Given the description of an element on the screen output the (x, y) to click on. 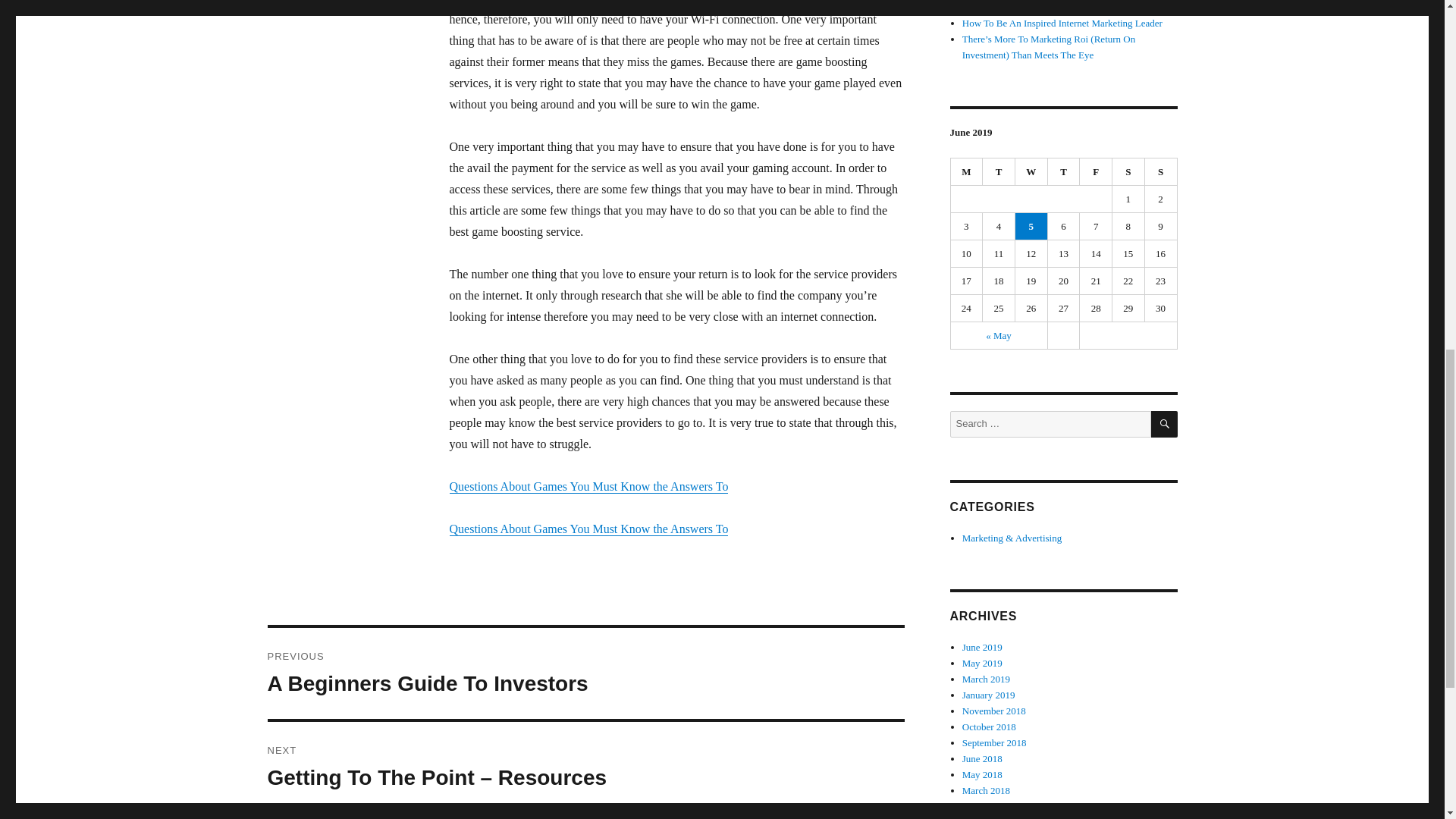
Questions About Games You Must Know the Answers To (588, 486)
How To Be An Inspired Internet Marketing Leader (1061, 22)
September 2018 (994, 742)
June 2018 (982, 758)
Friday (1096, 171)
January 2019 (988, 695)
May 2018 (982, 774)
June 2019 (982, 646)
Wednesday (1031, 171)
January 2018 (988, 806)
